Given the description of an element on the screen output the (x, y) to click on. 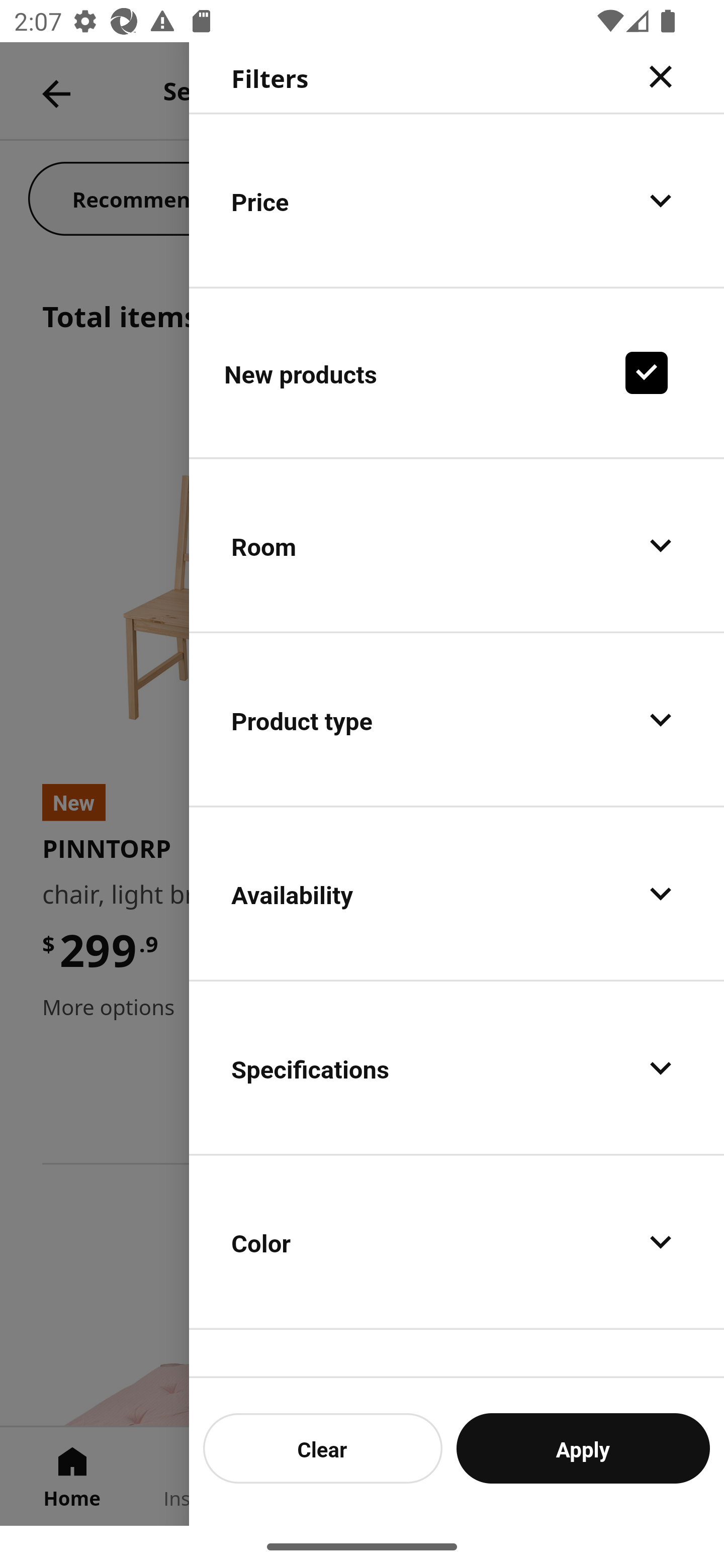
Price (456, 200)
New products (456, 371)
Room (456, 545)
Product type (456, 719)
Availability (456, 893)
Specifications (456, 1067)
Color (456, 1241)
Clear (322, 1447)
Apply (583, 1447)
